Given the description of an element on the screen output the (x, y) to click on. 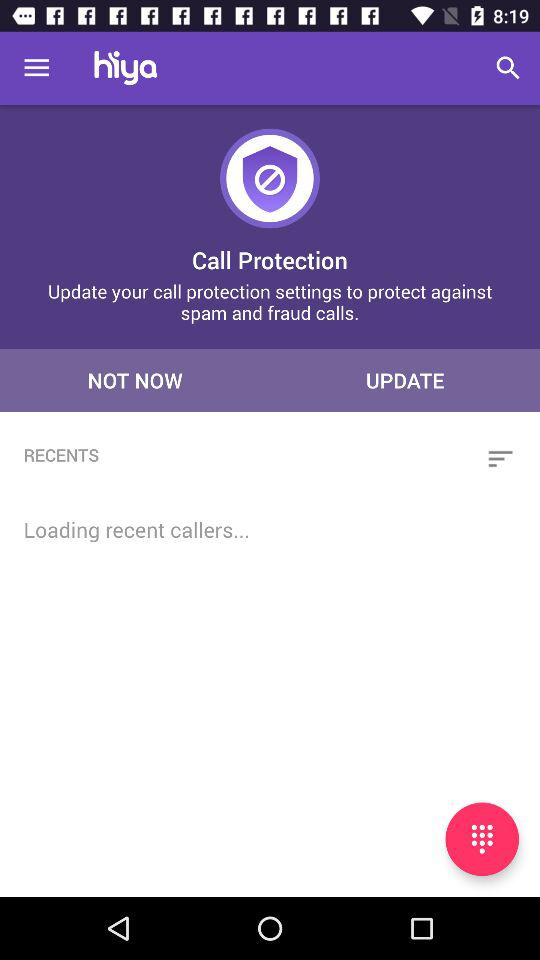
good (482, 839)
